Given the description of an element on the screen output the (x, y) to click on. 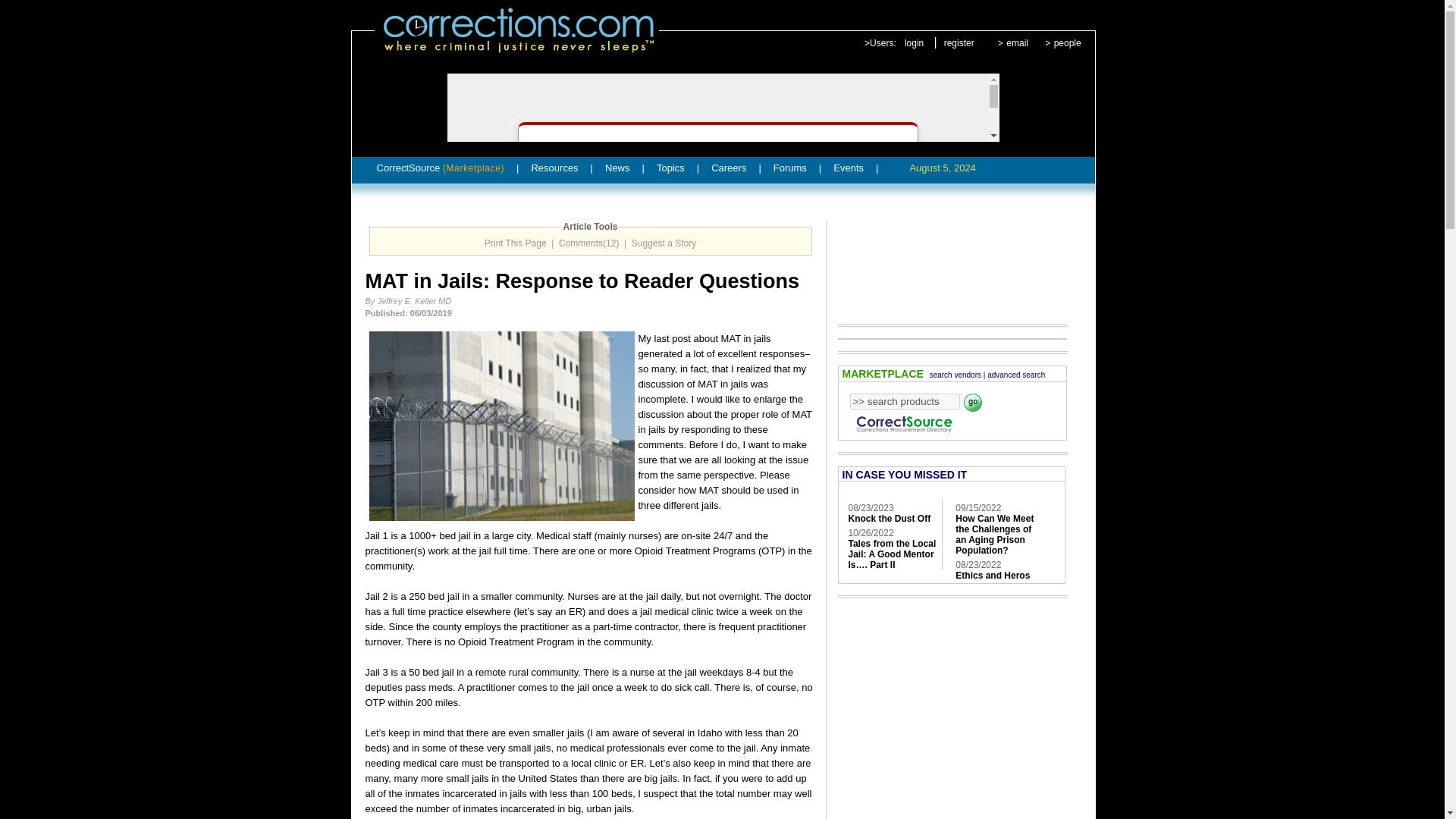
News (617, 168)
Careers (728, 168)
Resources (553, 168)
people (1067, 42)
Suggest a Story (663, 243)
email (1016, 42)
Forums (789, 168)
Topics (670, 168)
register (958, 42)
login (913, 42)
Events (848, 168)
Print This Page (515, 243)
